Given the description of an element on the screen output the (x, y) to click on. 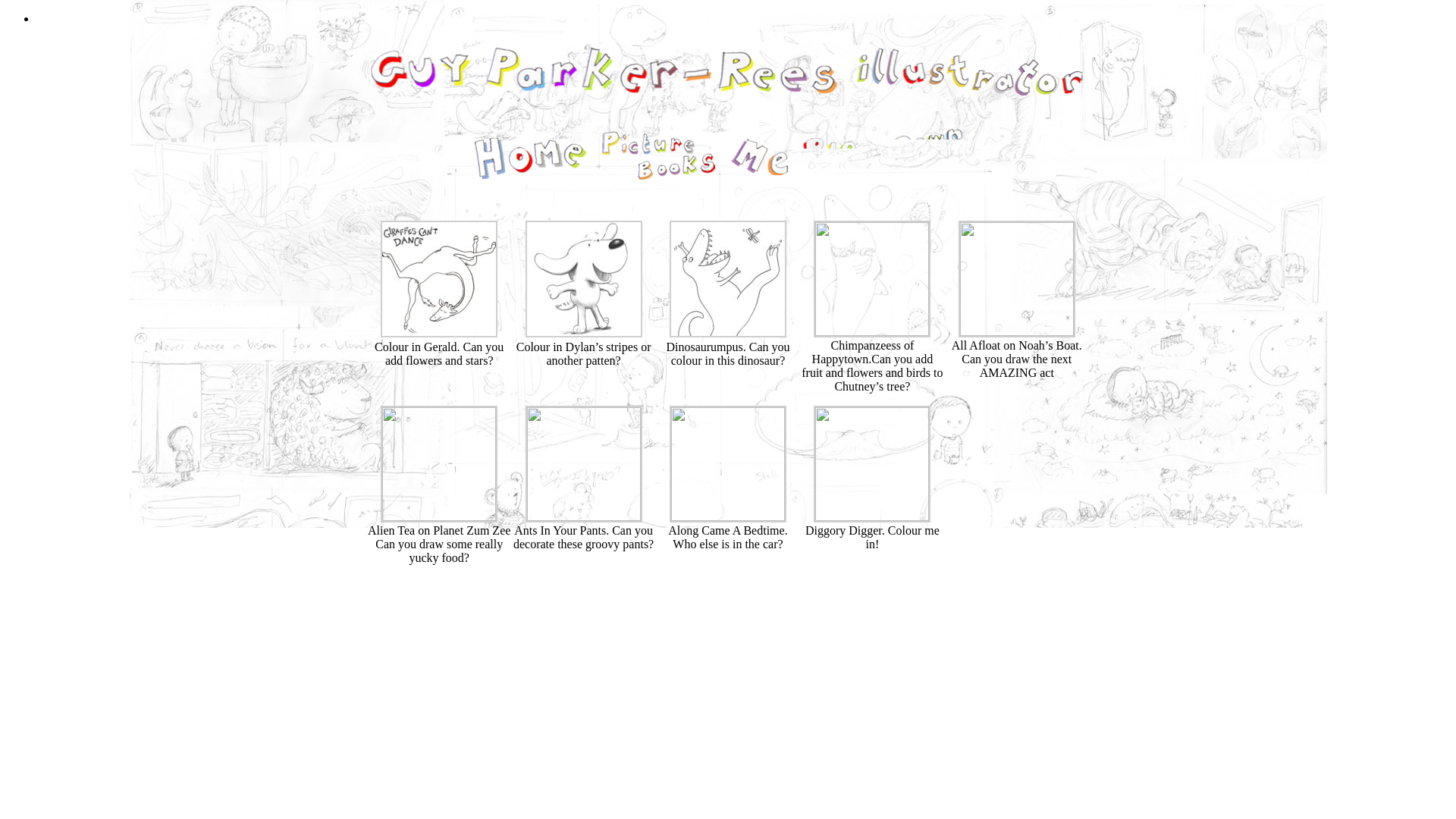
Colour-in-Dylan-.thumbjpg (583, 332)
Alien-Food-thumb (438, 516)
Diggory-Digger (871, 516)
Ants-in-your-Pants-Thumb (583, 516)
giraffe-colour-in-thumb-2 (438, 332)
Along-came-a-Bedtime-car-thumb (727, 516)
